Given the description of an element on the screen output the (x, y) to click on. 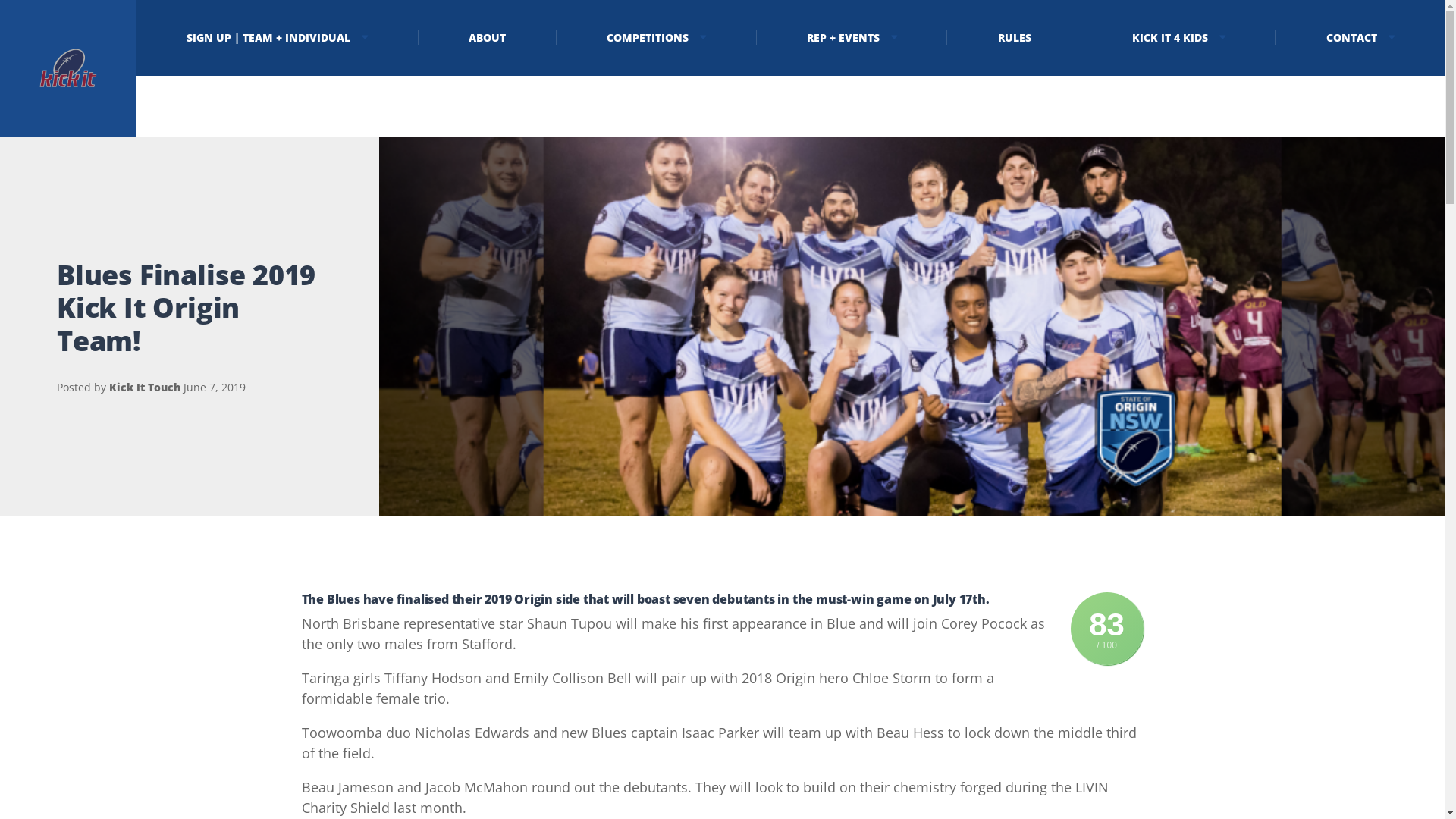
COMPETITIONS Element type: text (656, 37)
ABOUT Element type: text (487, 37)
CONTACT Element type: text (1359, 37)
RULES Element type: text (1014, 37)
Kick It Touch Element type: text (144, 386)
REP + EVENTS Element type: text (851, 37)
KICK IT 4 KIDS Element type: text (1178, 37)
SIGN UP | TEAM + INDIVIDUAL Element type: text (277, 37)
